Given the description of an element on the screen output the (x, y) to click on. 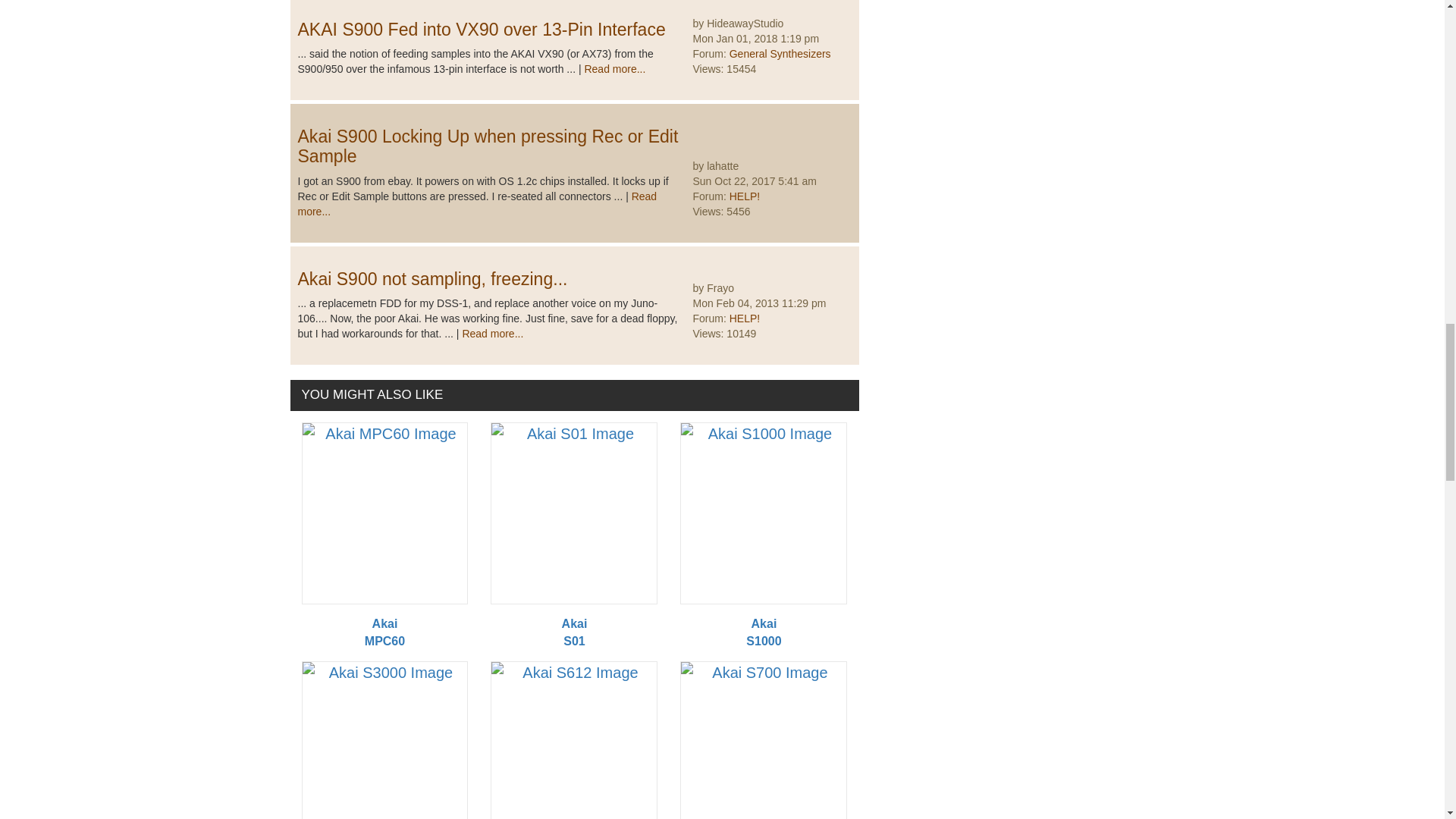
General Synthesizers (780, 53)
Read more... (614, 69)
AKAI S900 Fed into VX90 over 13-Pin Interface (481, 29)
Akai S900 Locking Up when pressing Rec or Edit Sample (487, 146)
